Given the description of an element on the screen output the (x, y) to click on. 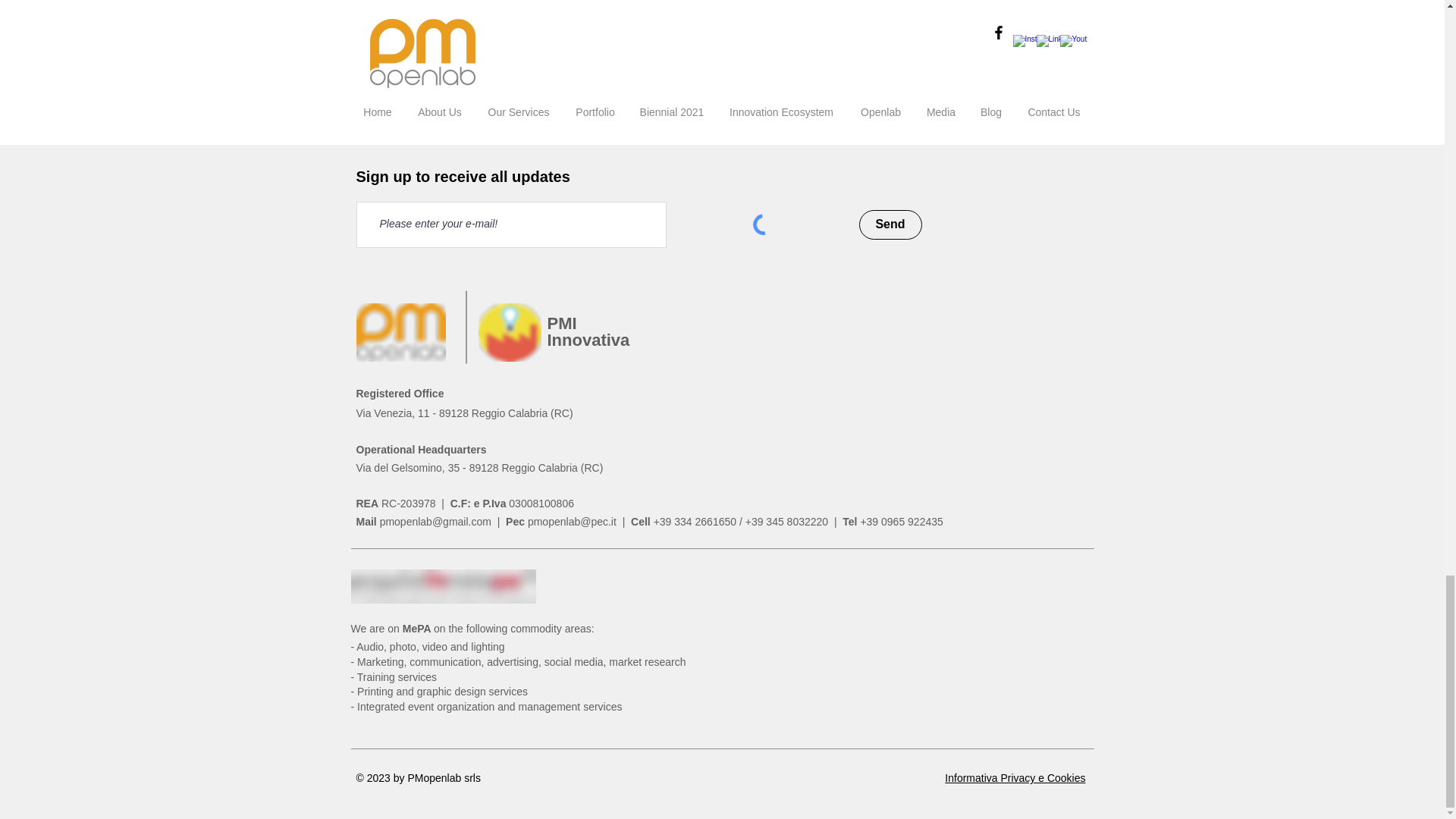
mepa logo (442, 586)
Send (716, 59)
Send (890, 224)
Logo PMopenlab (400, 332)
logo pmi innovative (508, 332)
Informativa Privacy e Cookies (1014, 777)
